Given the description of an element on the screen output the (x, y) to click on. 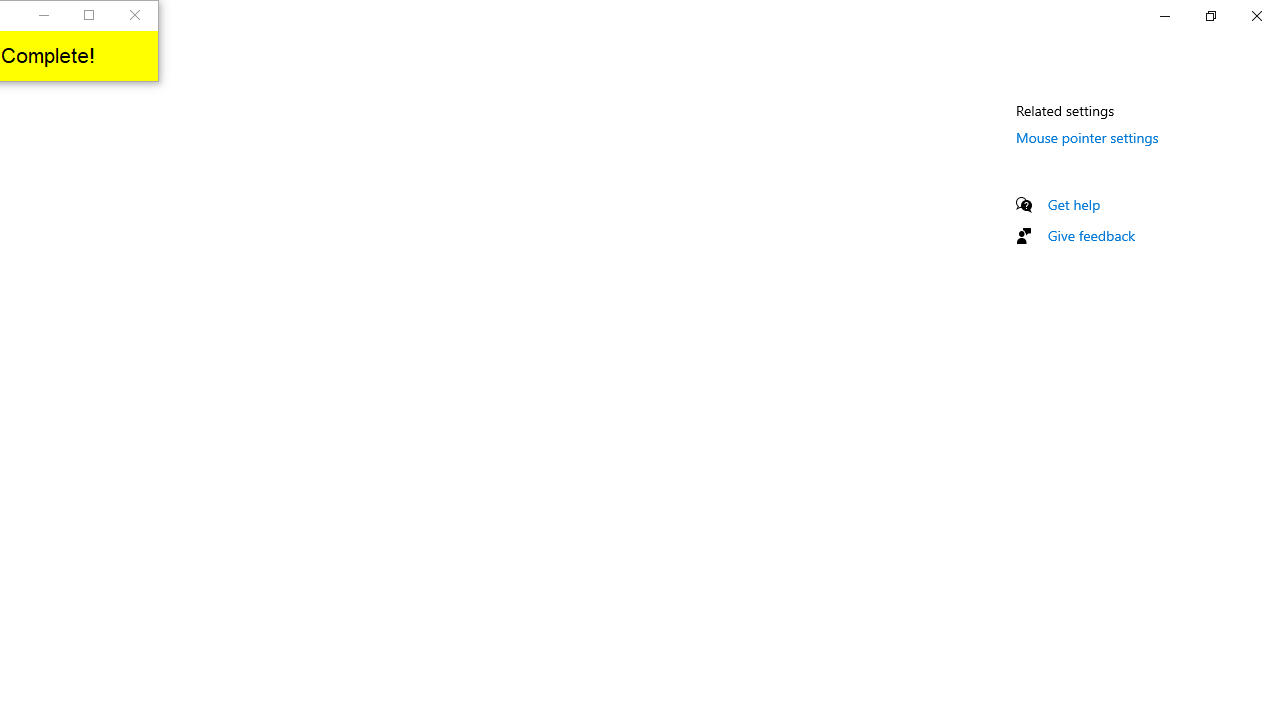
Close Settings (1256, 15)
Get help (1074, 204)
Give feedback (1091, 235)
Restore Settings (1210, 15)
Mouse pointer settings (1087, 137)
Minimize Settings (1164, 15)
